Given the description of an element on the screen output the (x, y) to click on. 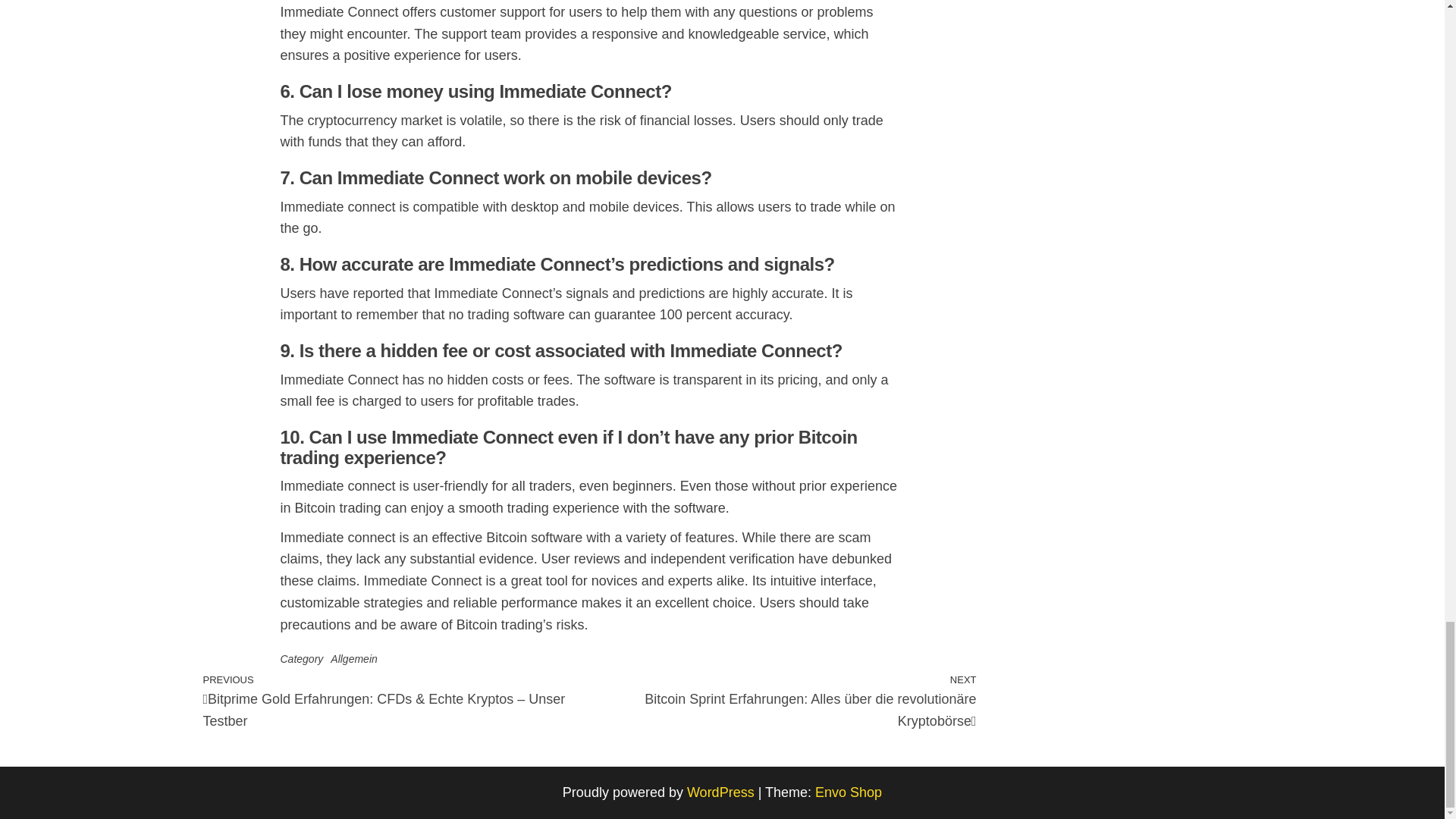
Allgemein (353, 658)
